Given the description of an element on the screen output the (x, y) to click on. 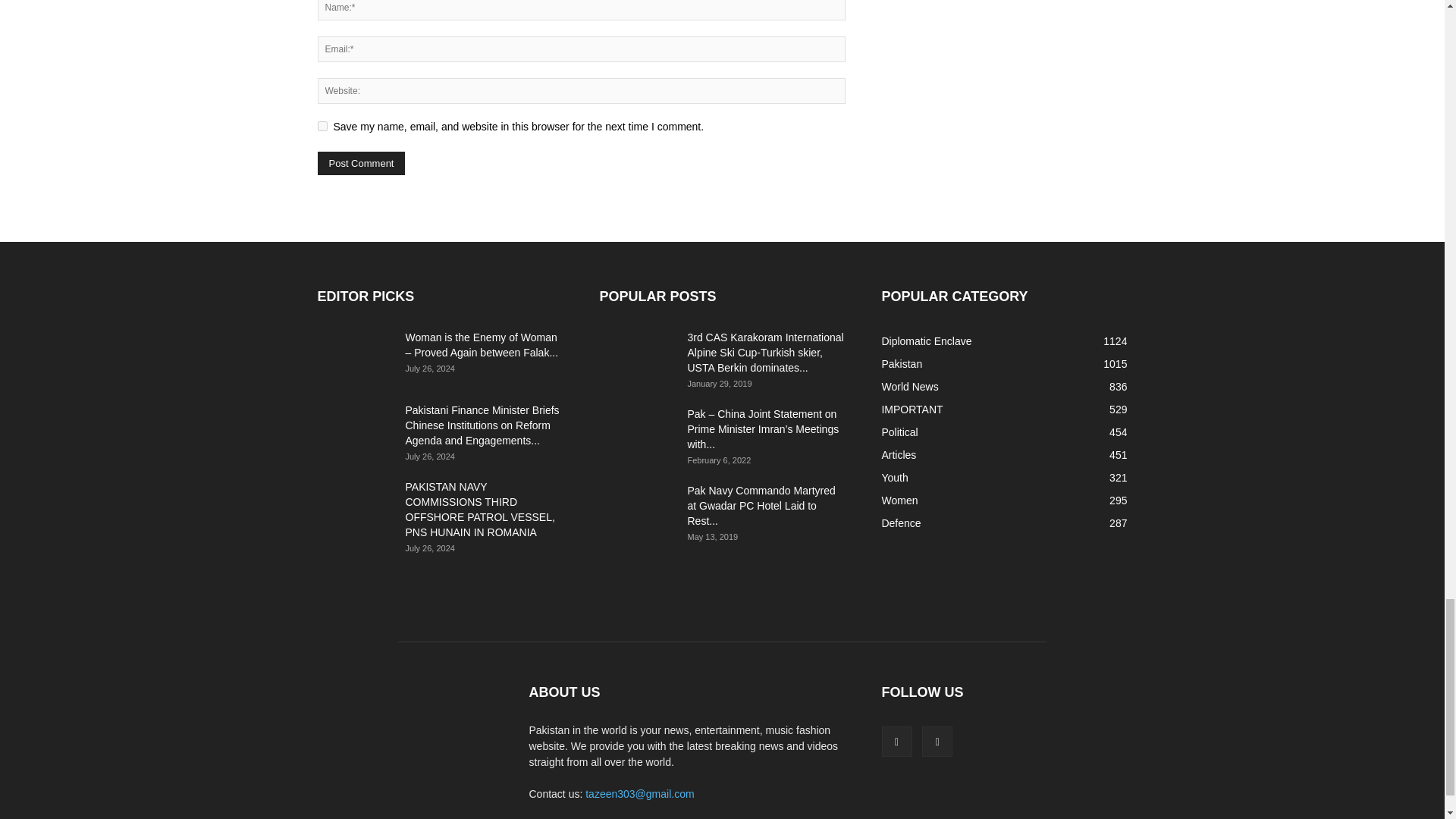
yes (321, 126)
Post Comment (360, 163)
